Given the description of an element on the screen output the (x, y) to click on. 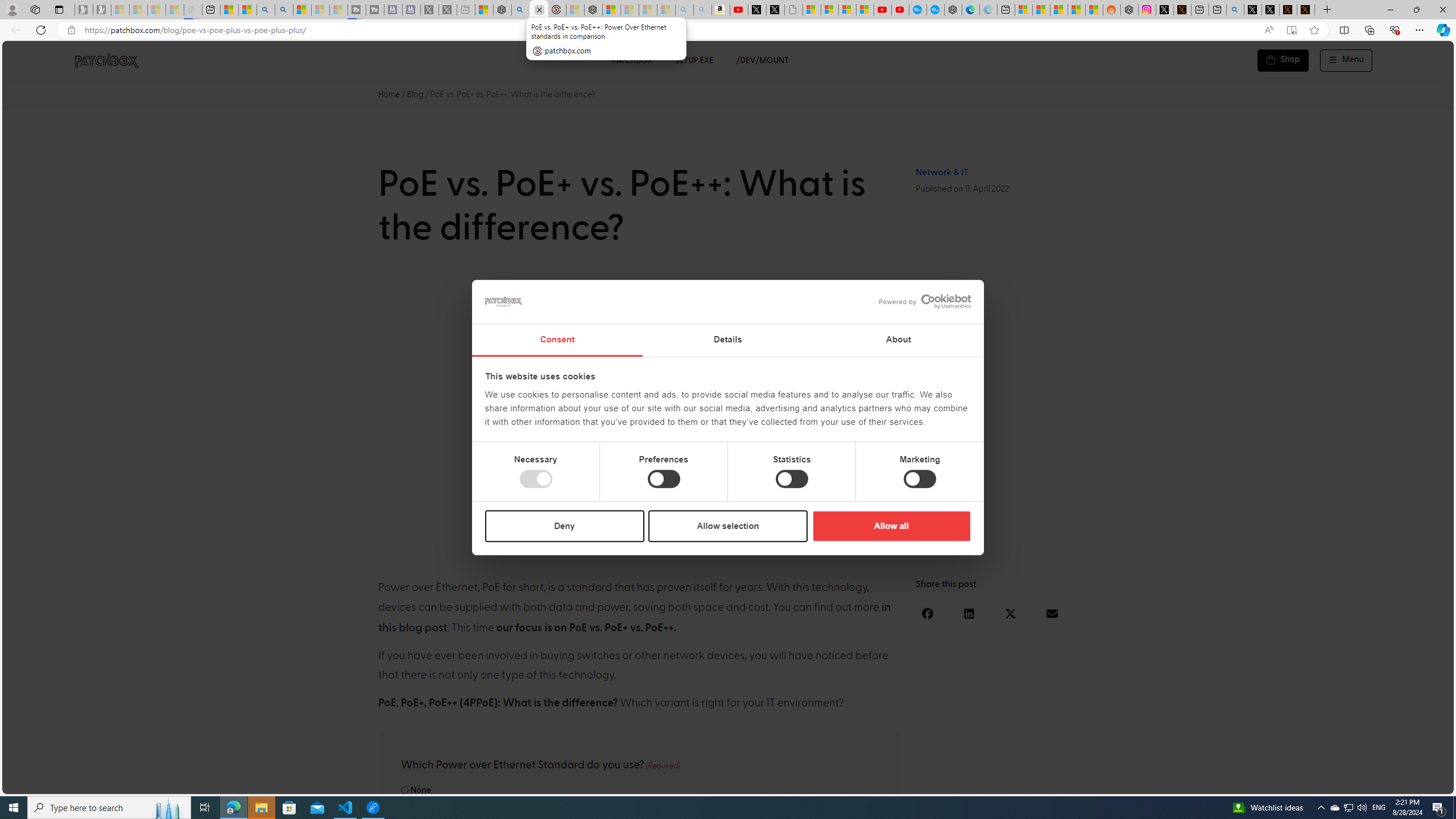
Language switcher : Dutch (1276, 782)
PATCHBOX Simplify IT (114, 60)
Share on x-twitter (1010, 613)
PATCHBOX (631, 60)
Nordace - Nordace Siena Is Not An Ordinary Backpack (593, 9)
Shop (1282, 60)
logo (503, 301)
/DEV/MOUNT (762, 60)
None (403, 790)
